Given the description of an element on the screen output the (x, y) to click on. 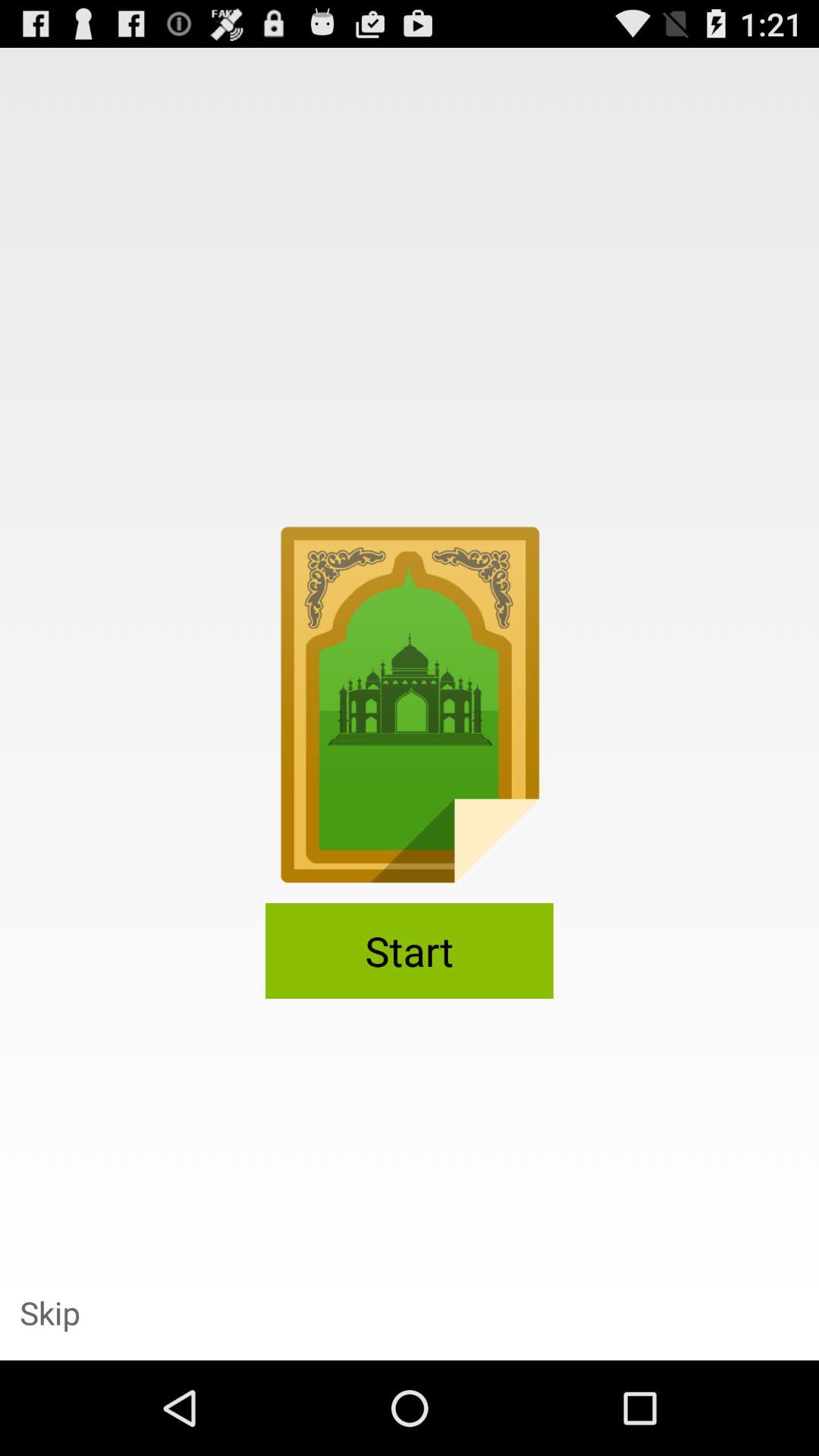
turn off skip item (50, 1312)
